Given the description of an element on the screen output the (x, y) to click on. 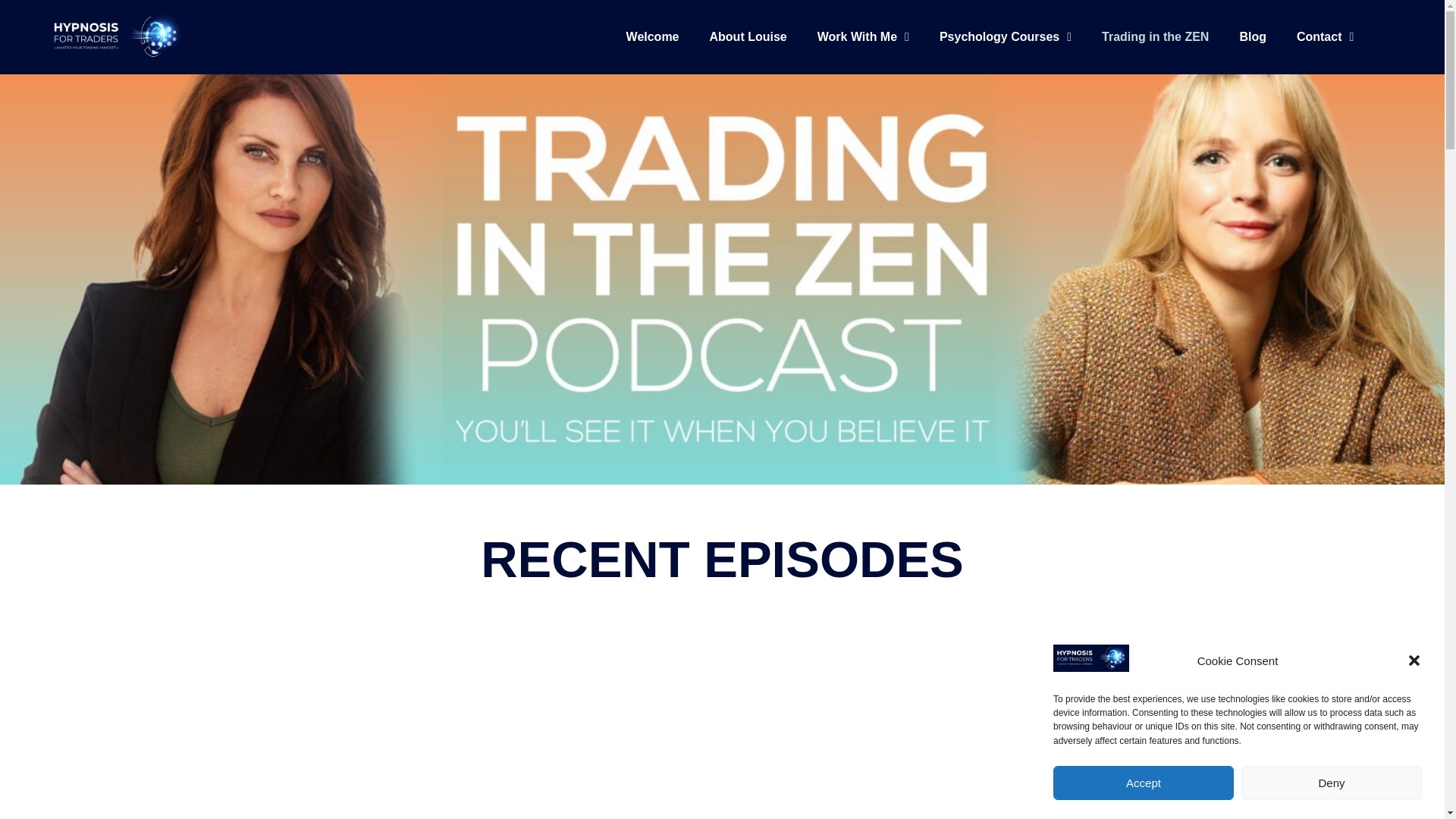
Work With Me (863, 37)
Trading in the ZEN (1155, 37)
Contact (1324, 37)
Blog (1252, 37)
Welcome (652, 37)
Psychology Courses (1005, 37)
About Louise (748, 37)
